Given the description of an element on the screen output the (x, y) to click on. 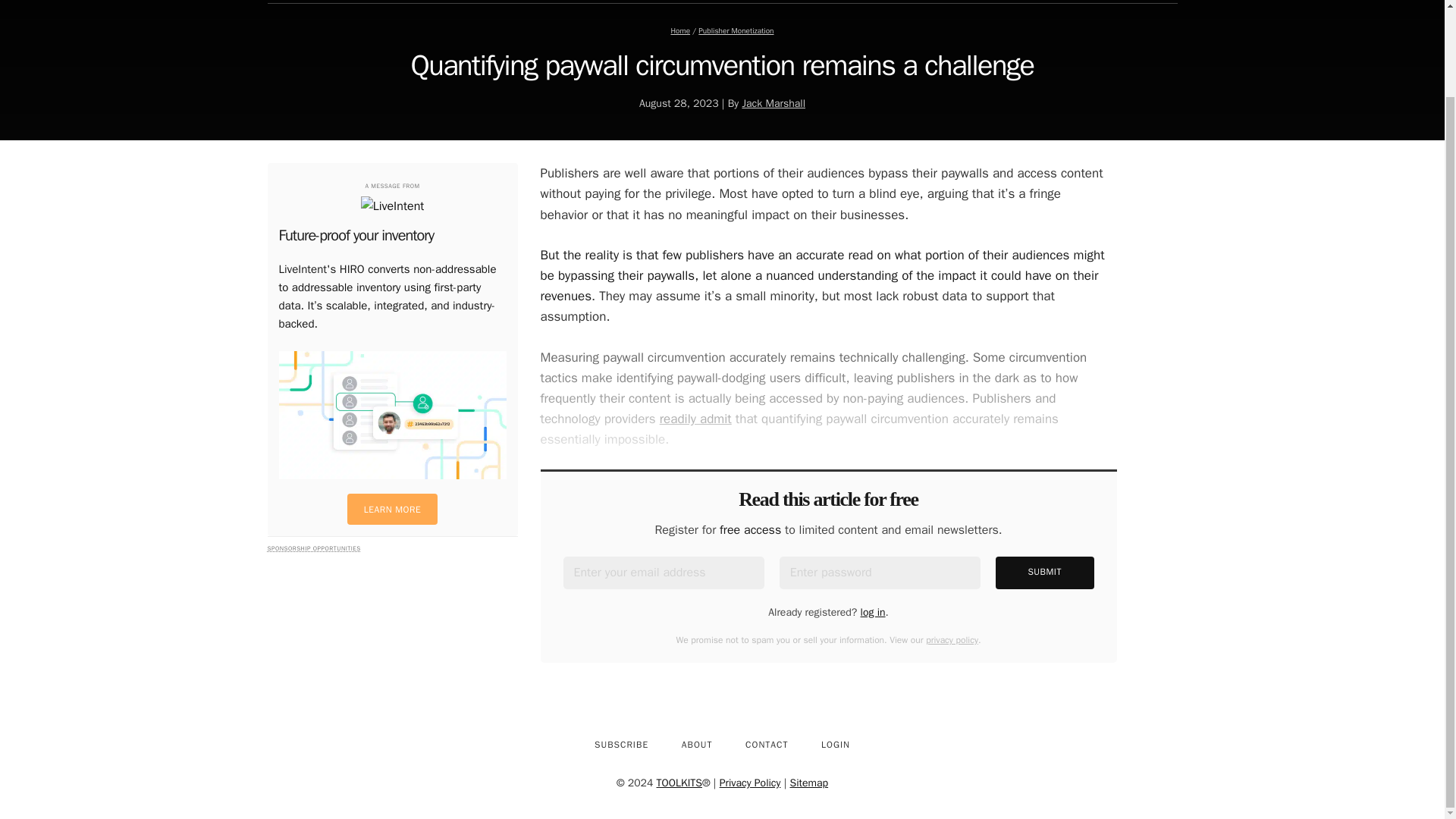
Publisher Monetization (735, 30)
Submit (1044, 572)
Jack Marshall (773, 103)
SPONSORSHIP OPPORTUNITIES (312, 548)
LEARN MORE (392, 509)
Home (679, 30)
CONTACT (766, 742)
log in (872, 612)
TOOLKITS (678, 782)
ABOUT (697, 742)
